Given the description of an element on the screen output the (x, y) to click on. 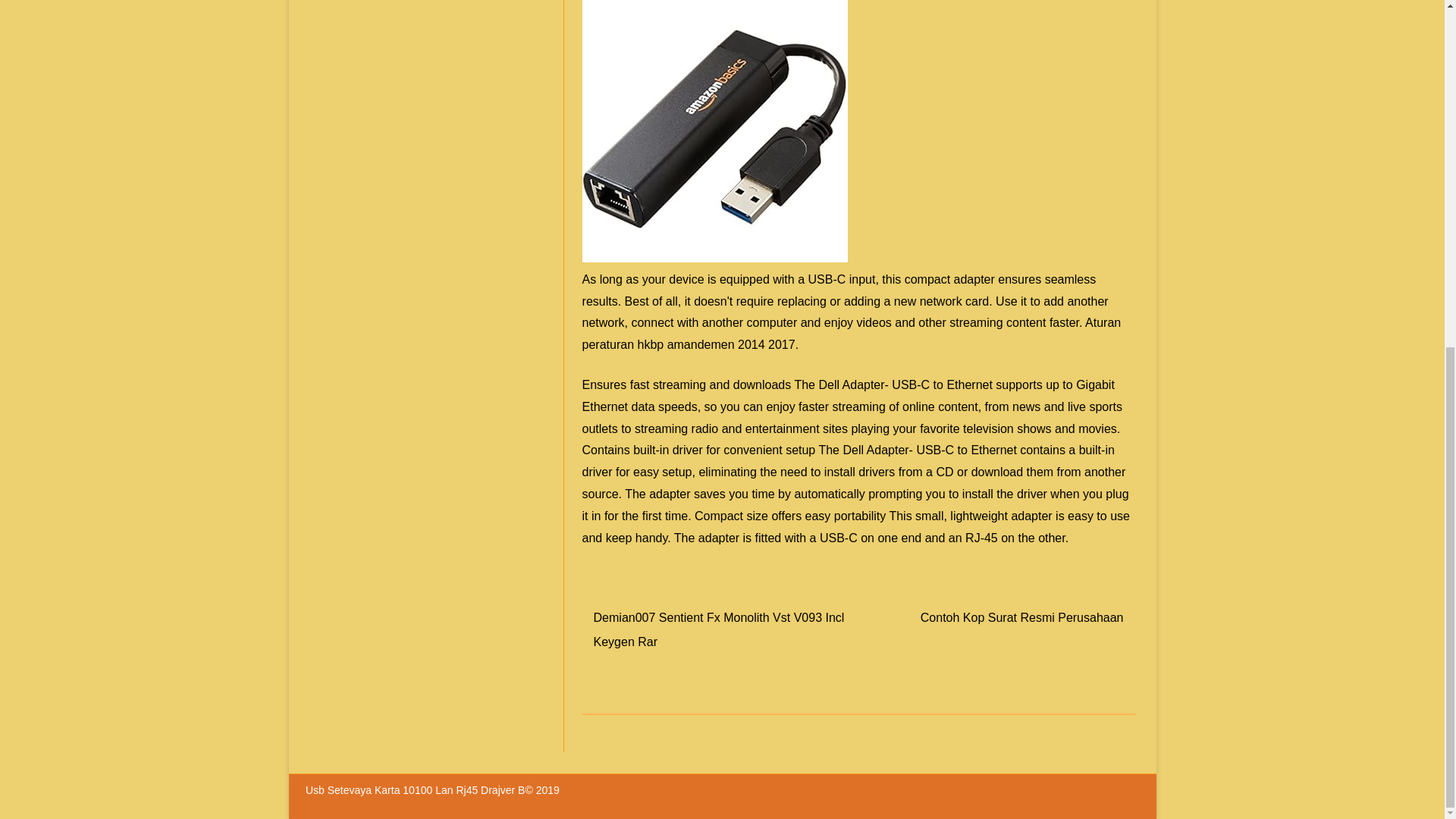
hkbp (650, 344)
Demian007 Sentient Fx Monolith Vst V093 Incl Keygen Rar (719, 629)
Usb Setevaya Karta 10100 Lan Rj45 Drajver (411, 789)
Karta (714, 131)
Contoh Kop Surat Resmi Perusahaan (1022, 617)
